Given the description of an element on the screen output the (x, y) to click on. 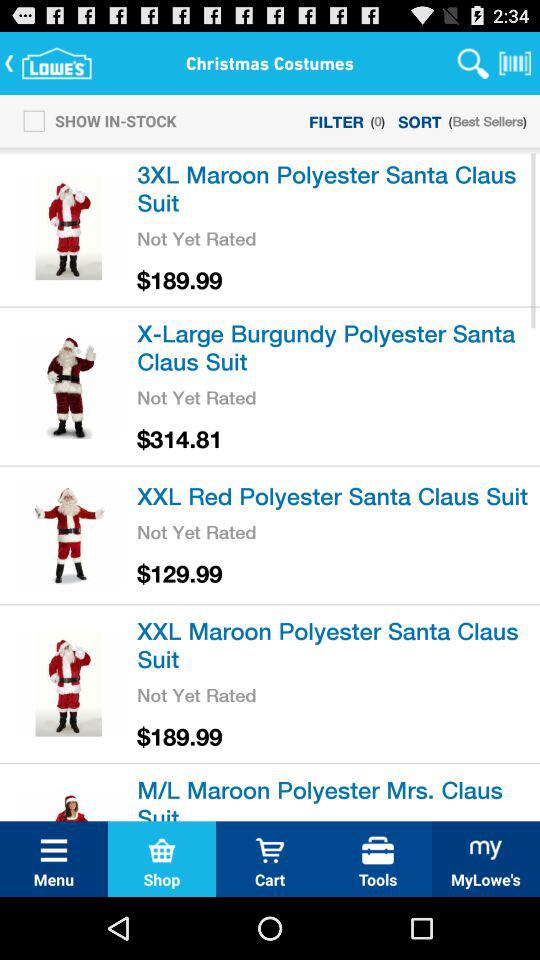
press the icon above the xxl red polyester item (179, 437)
